Given the description of an element on the screen output the (x, y) to click on. 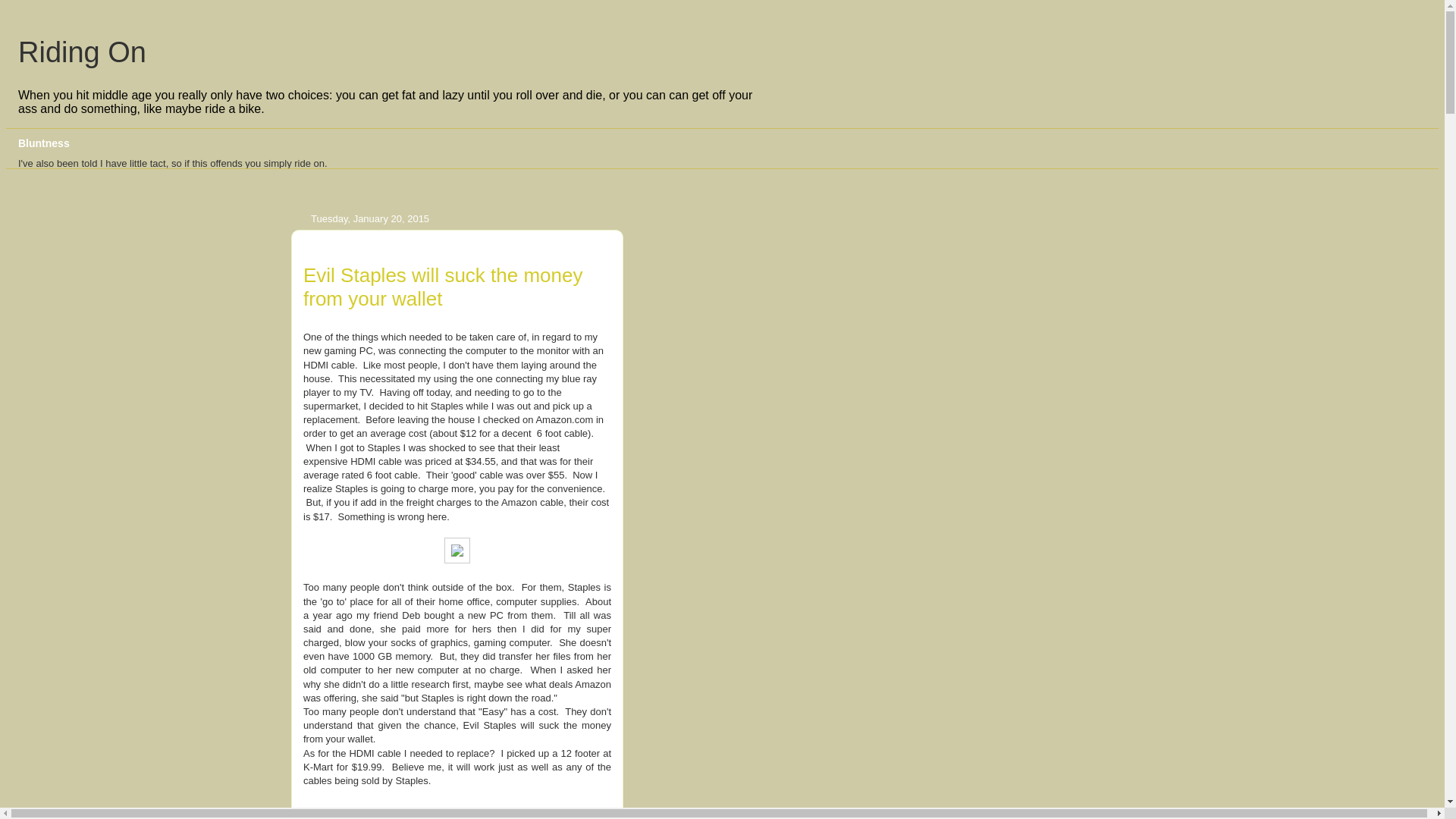
Riding On (82, 51)
